Given the description of an element on the screen output the (x, y) to click on. 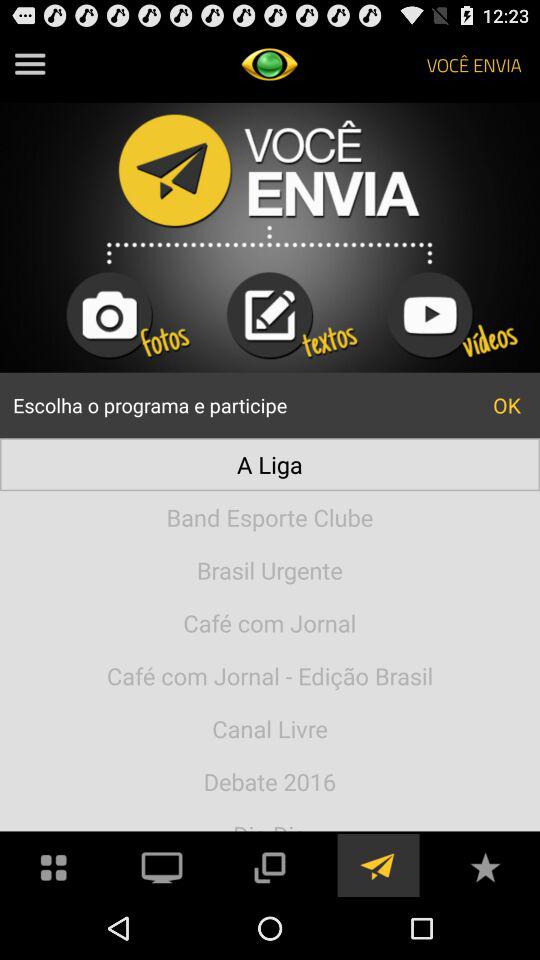
view hamburger menu (29, 64)
